Given the description of an element on the screen output the (x, y) to click on. 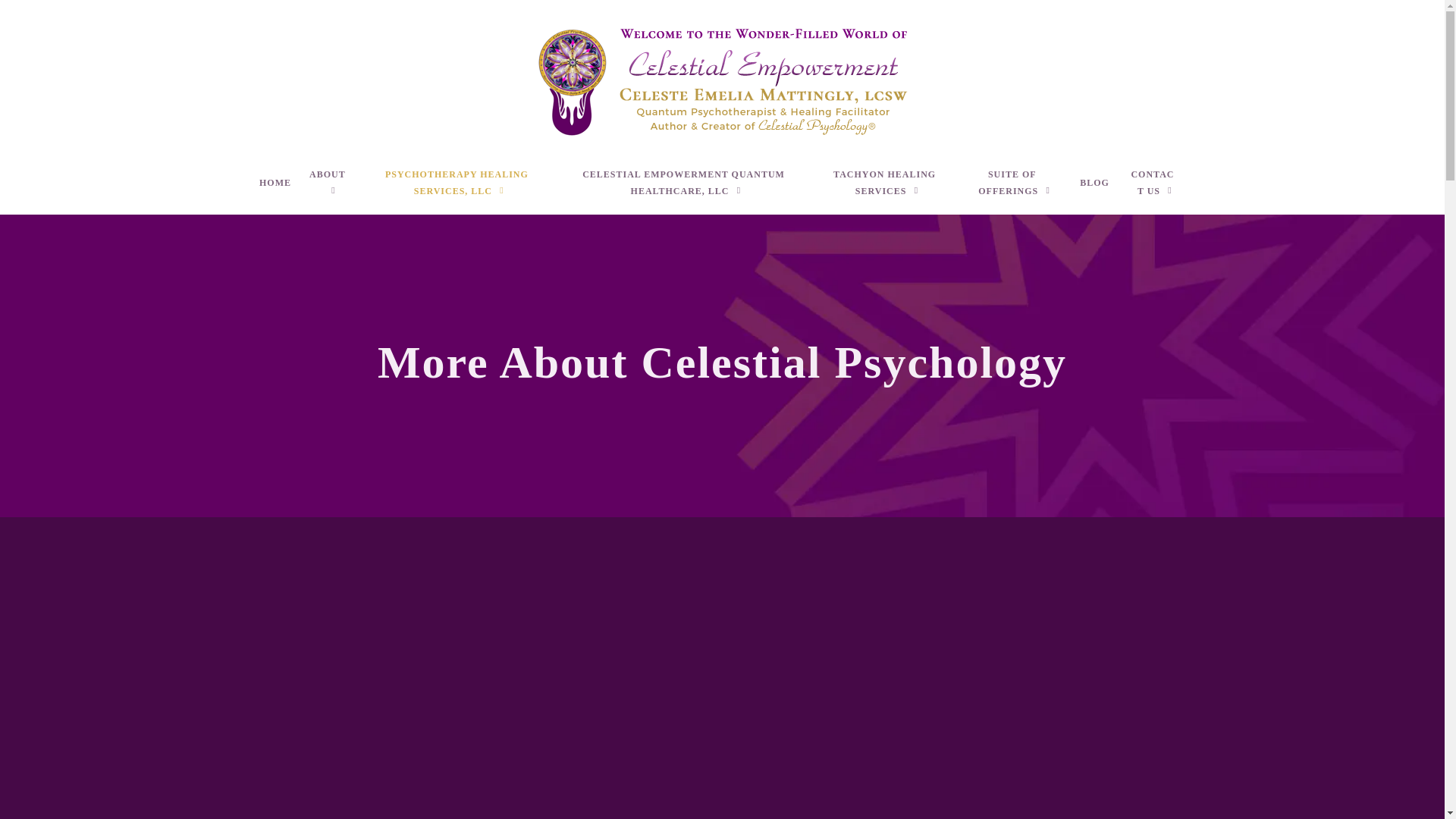
HOME (274, 190)
BLOG (1094, 190)
ABOUT (330, 190)
TACHYON HEALING SERVICES (887, 190)
CONTACT US (1155, 190)
CELESTIAL EMPOWERMENT QUANTUM HEALTHCARE, LLC (687, 190)
PSYCHOTHERAPY HEALING SERVICES, LLC (460, 190)
SUITE OF OFFERINGS (1015, 190)
